Given the description of an element on the screen output the (x, y) to click on. 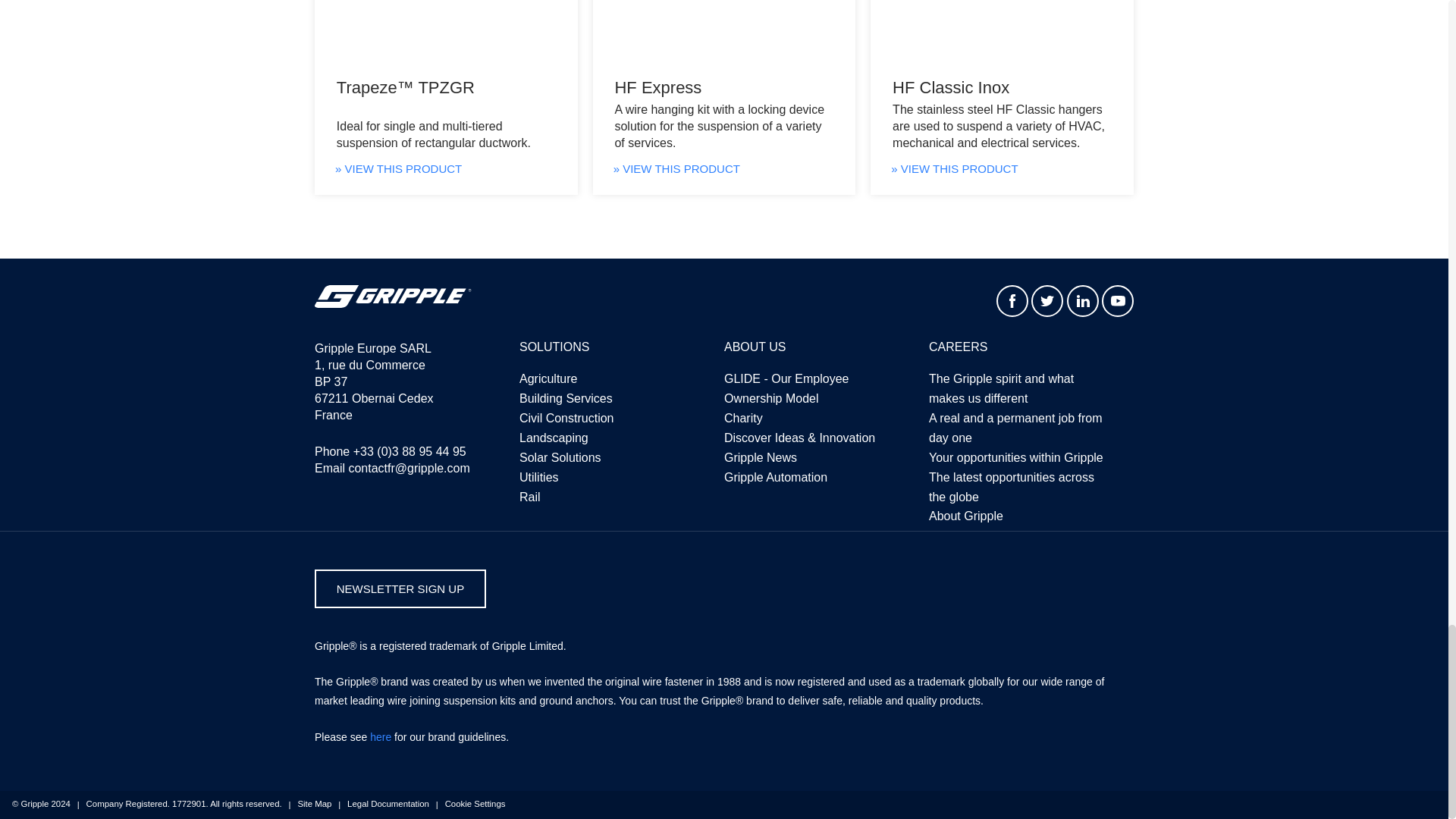
Stainless Steel Hanger (1002, 35)
Duct Trapeze (446, 35)
express tile2.png (724, 35)
Brand Guidelines 2021 (380, 736)
